Given the description of an element on the screen output the (x, y) to click on. 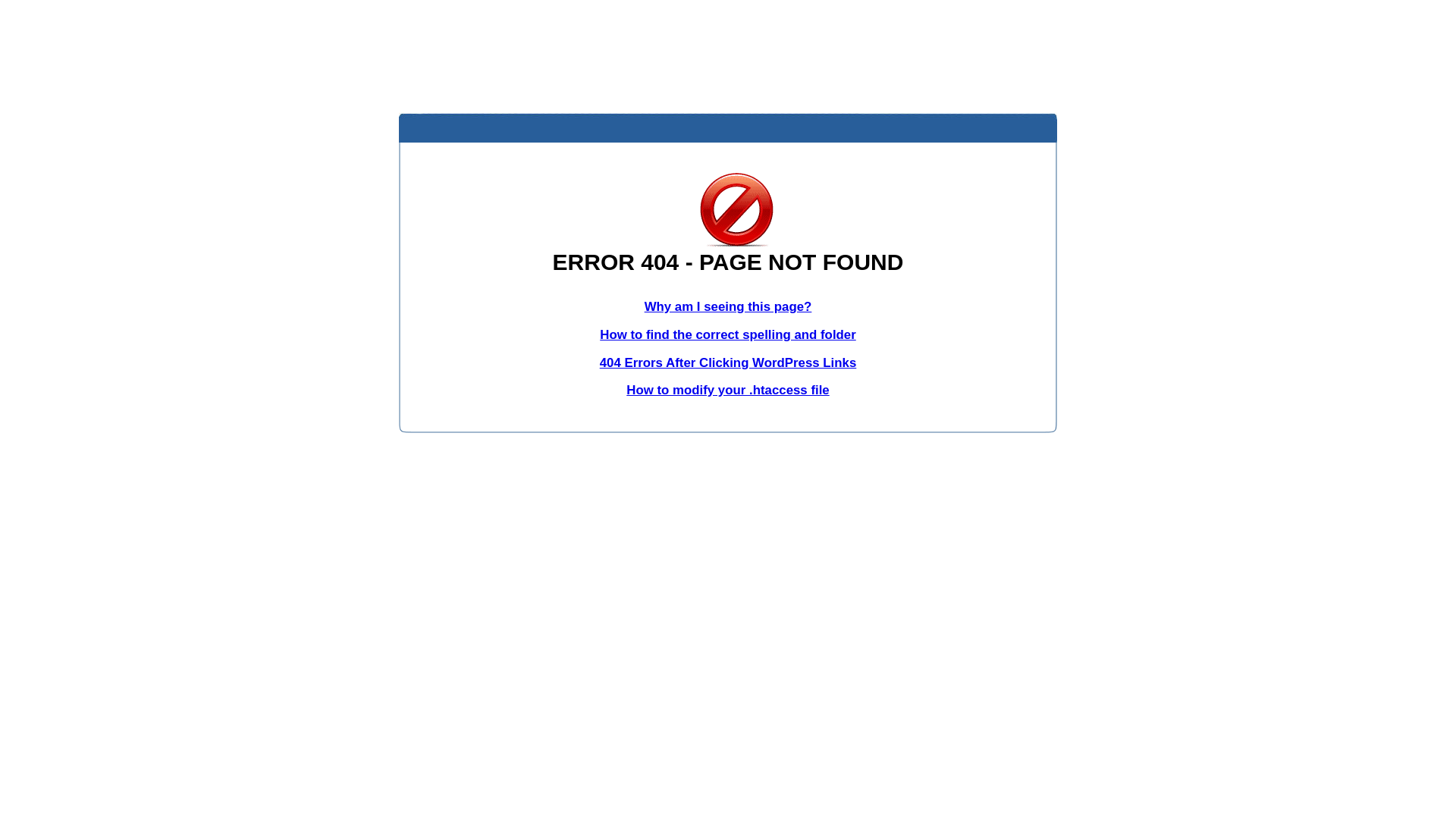
404 Errors After Clicking WordPress Links Element type: text (727, 362)
How to find the correct spelling and folder Element type: text (727, 334)
How to modify your .htaccess file Element type: text (727, 389)
Why am I seeing this page? Element type: text (728, 306)
